Given the description of an element on the screen output the (x, y) to click on. 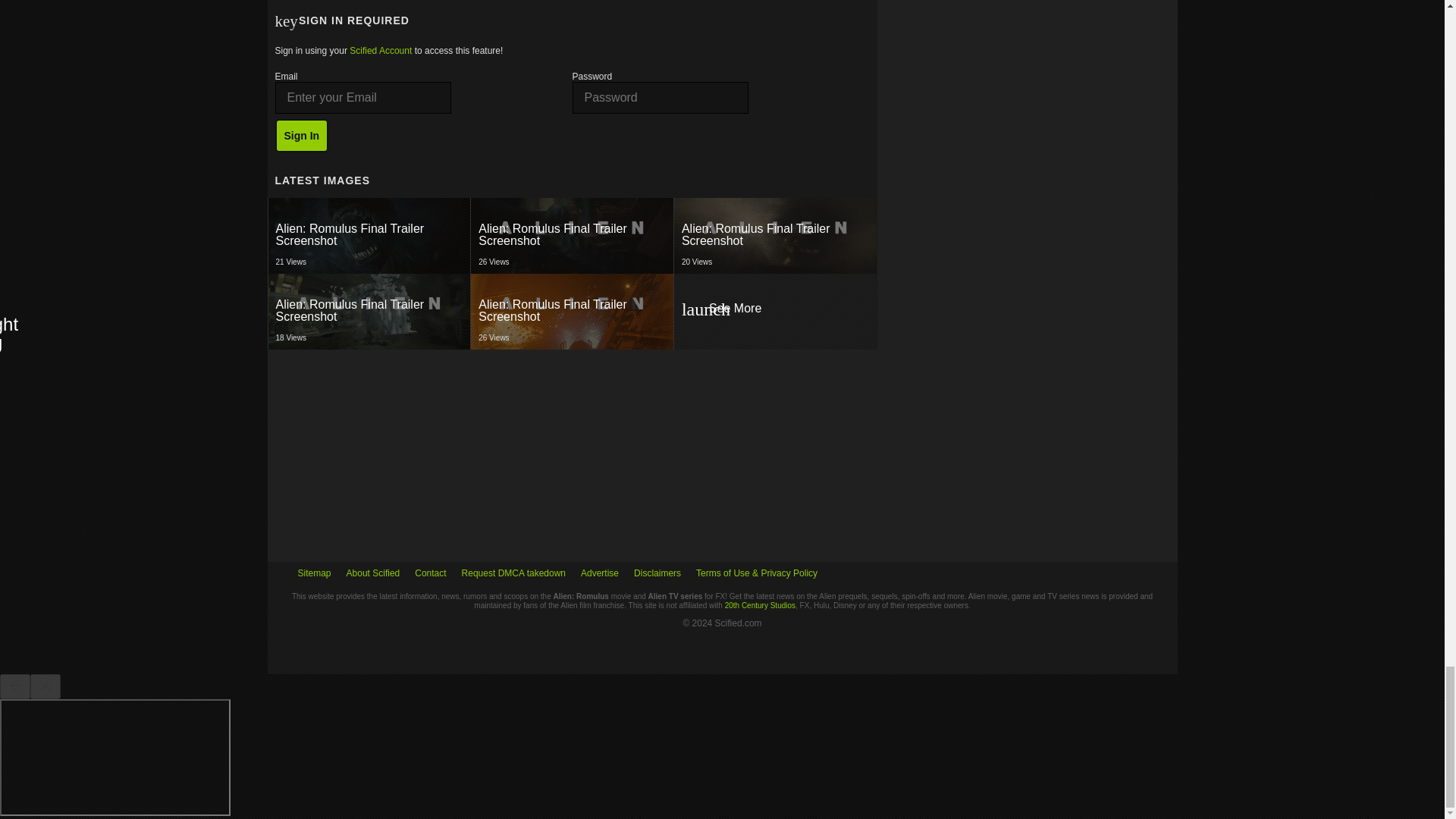
See More (368, 235)
See More (368, 235)
